Given the description of an element on the screen output the (x, y) to click on. 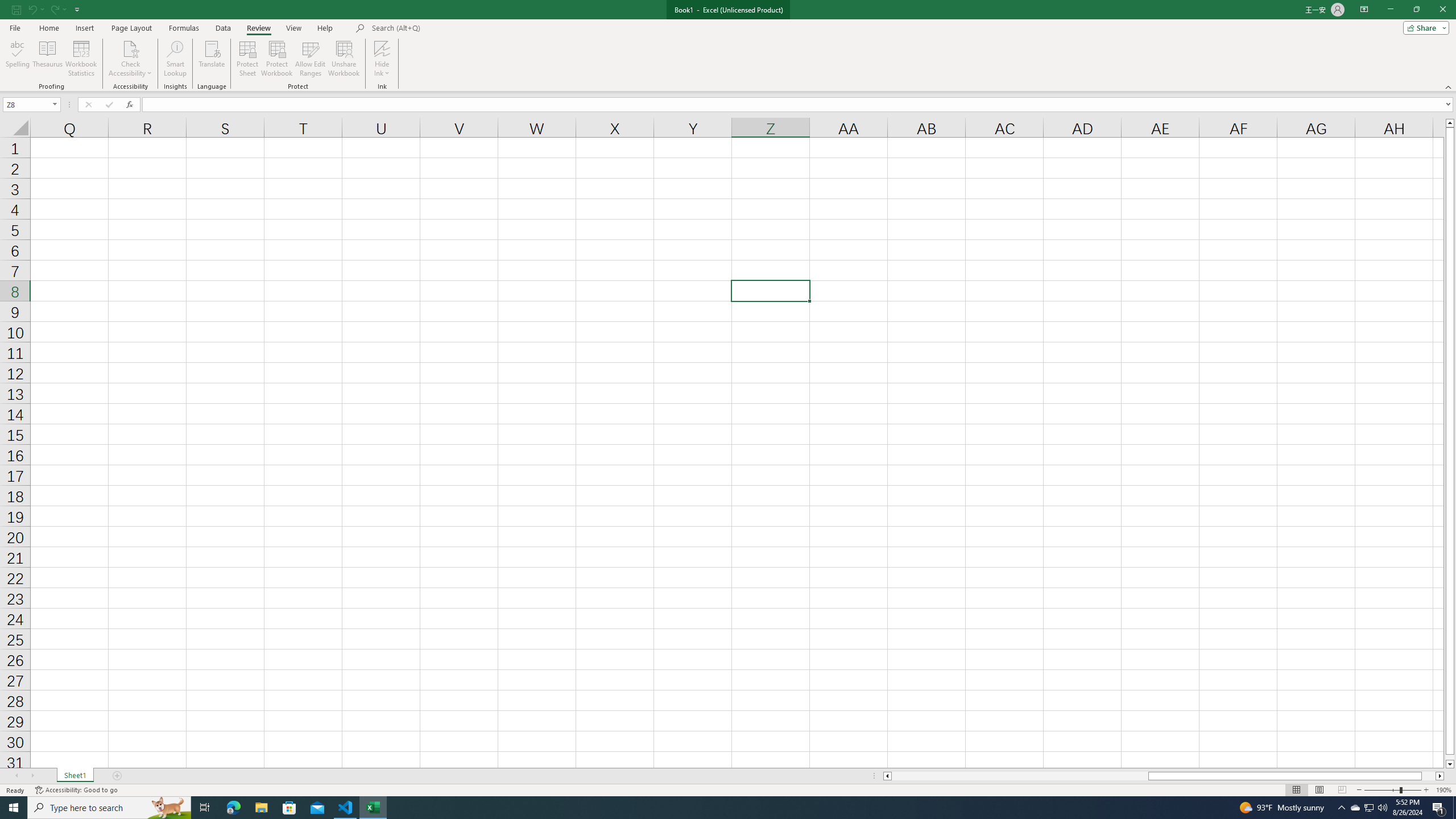
Translate (211, 58)
Check Accessibility (129, 48)
Page left (1019, 775)
Workbook Statistics (81, 58)
